Given the description of an element on the screen output the (x, y) to click on. 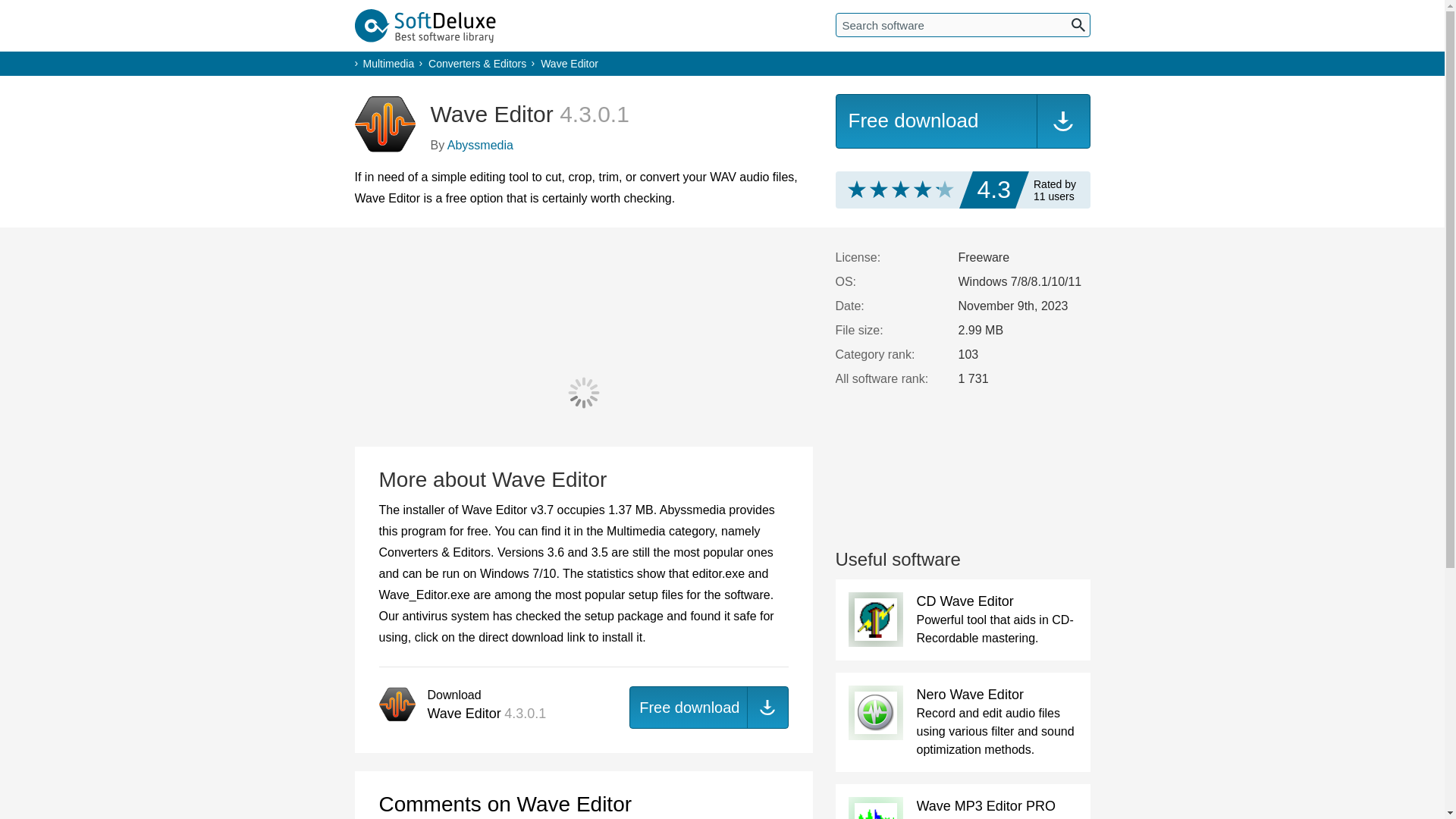
2 (868, 189)
Free download Wave Editor (962, 121)
CD Wave Editor (964, 601)
Nero Wave Editor (969, 694)
Wave MP3 Editor PRO (984, 806)
4 (890, 189)
Free download (962, 121)
1 (858, 189)
5 (900, 189)
3 (879, 189)
